Given the description of an element on the screen output the (x, y) to click on. 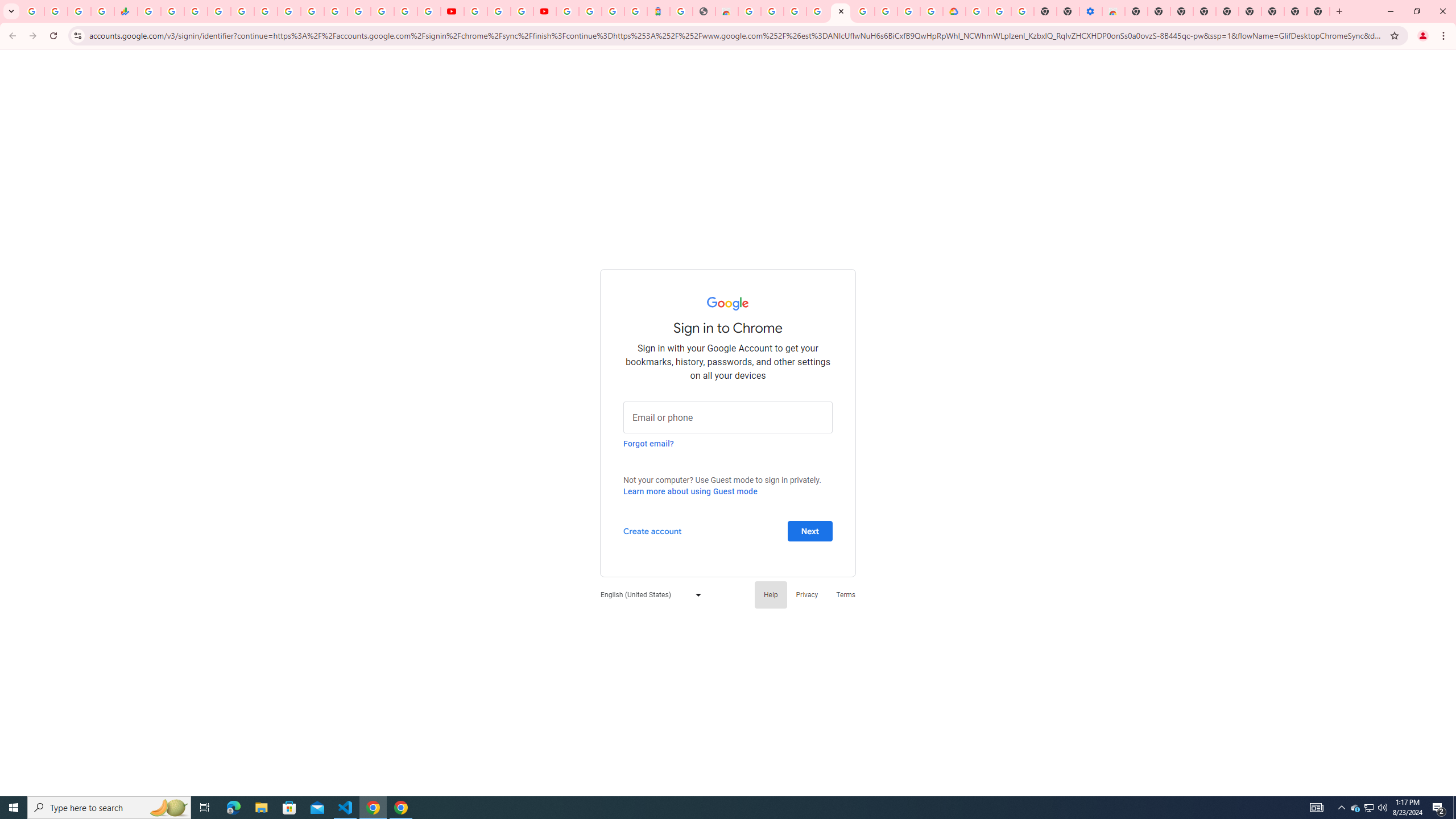
Privacy (806, 594)
Create account (651, 530)
Chrome Web Store - Household (727, 11)
Sign in - Google Accounts (218, 11)
English (United States) (647, 594)
Sign in - Google Accounts (590, 11)
Help (770, 594)
